Given the description of an element on the screen output the (x, y) to click on. 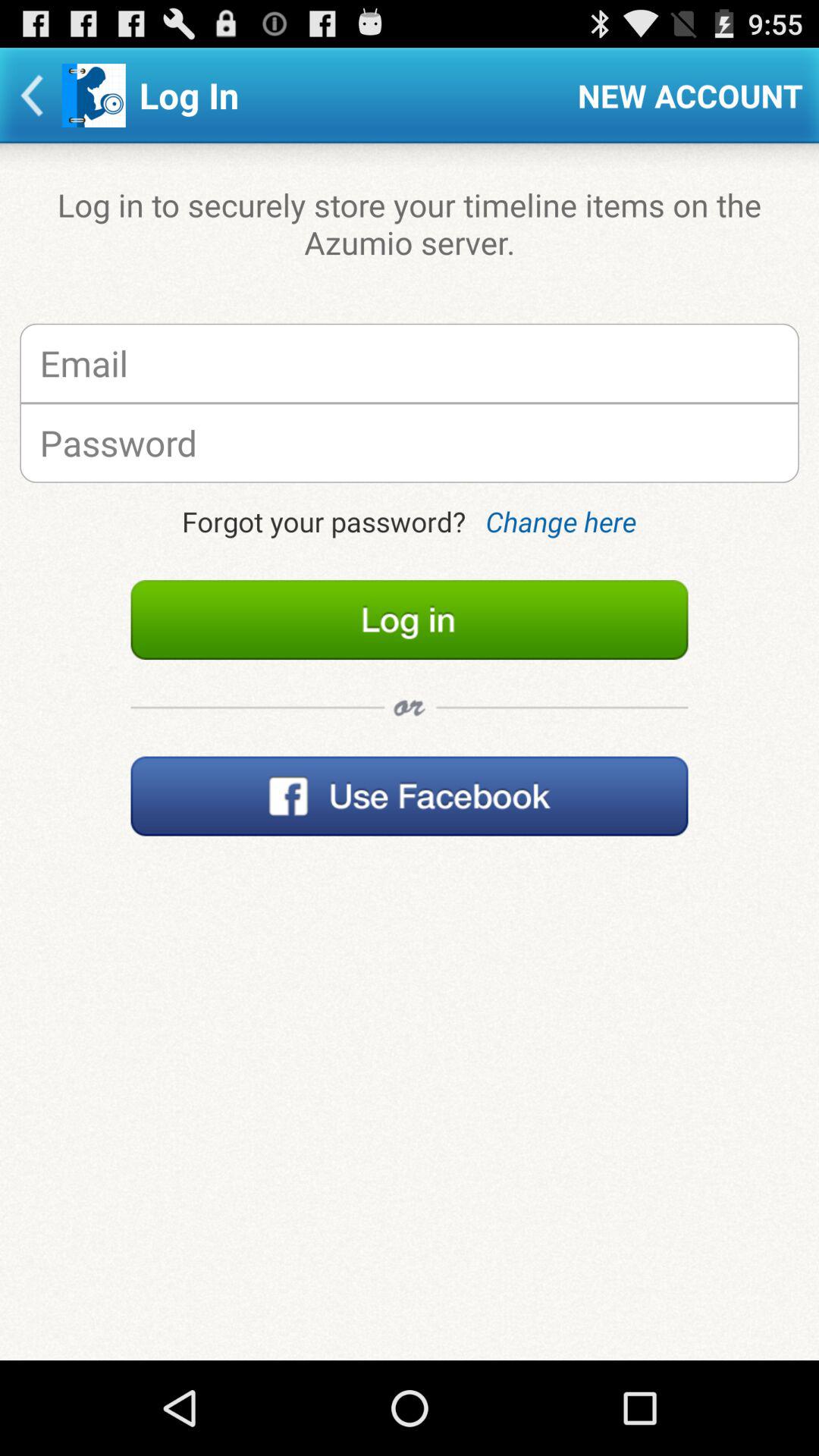
select item next to forgot your password? item (560, 521)
